Given the description of an element on the screen output the (x, y) to click on. 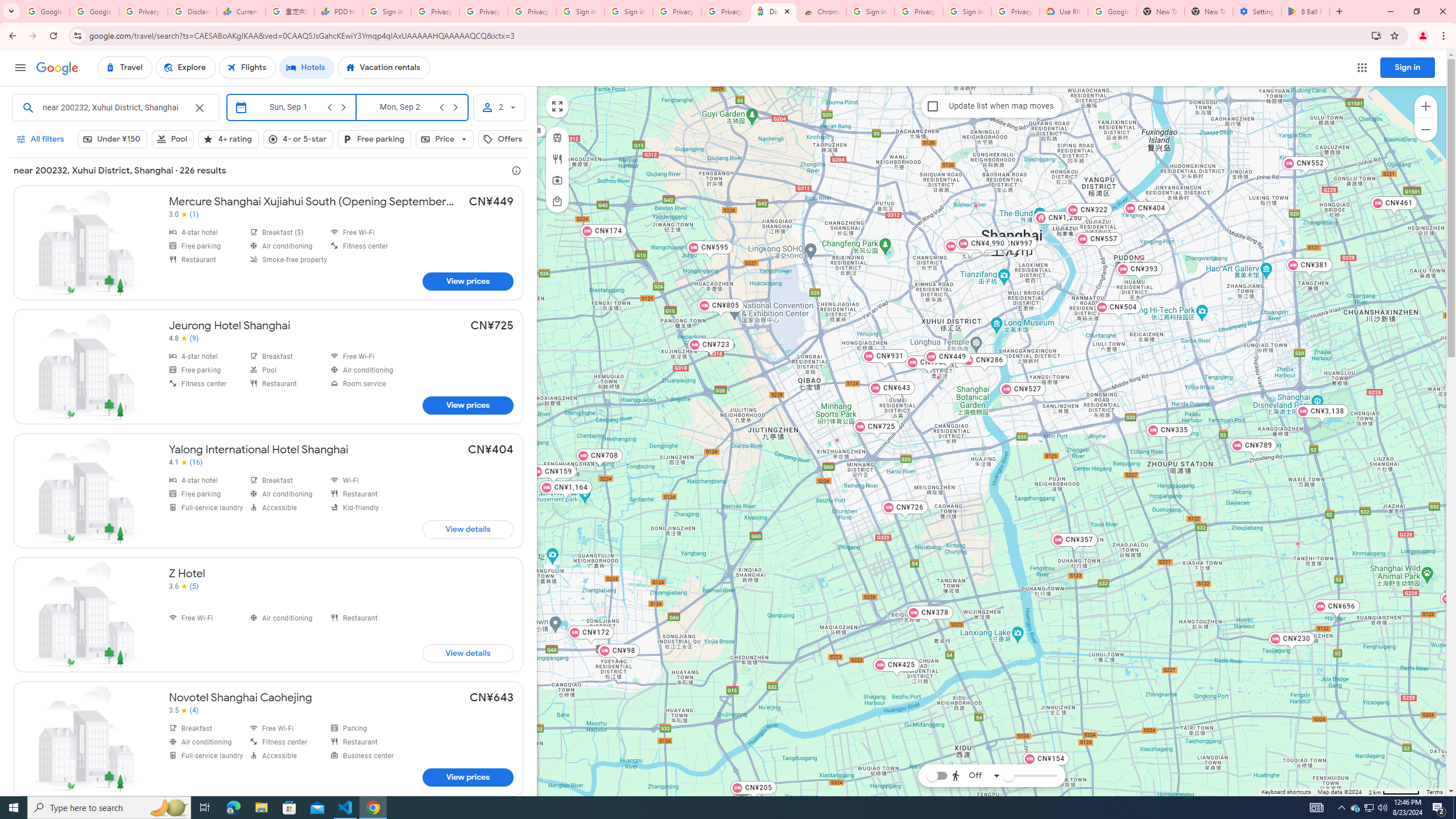
Hanting Premium Hotel Shanghai Xinzhuang Business (837, 439)
3.6 out of 5 stars from 5 reviews, Z Hotel (183, 586)
Install Trips all in one place (1376, 35)
View prices for Z Hotel (467, 653)
Reachability slider (1007, 775)
